Given the description of an element on the screen output the (x, y) to click on. 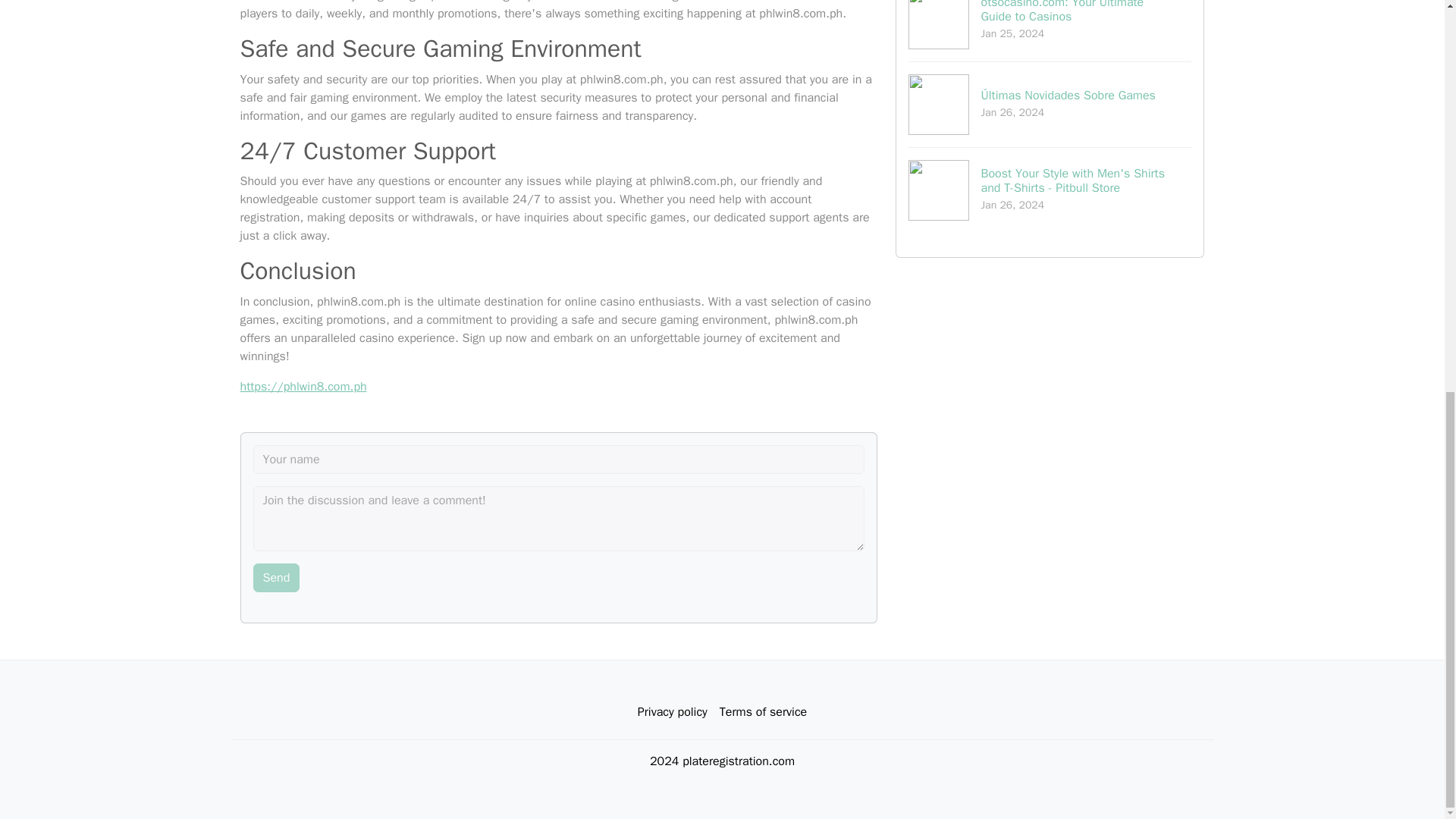
Send (1050, 30)
Send (276, 577)
Privacy policy (276, 577)
